Given the description of an element on the screen output the (x, y) to click on. 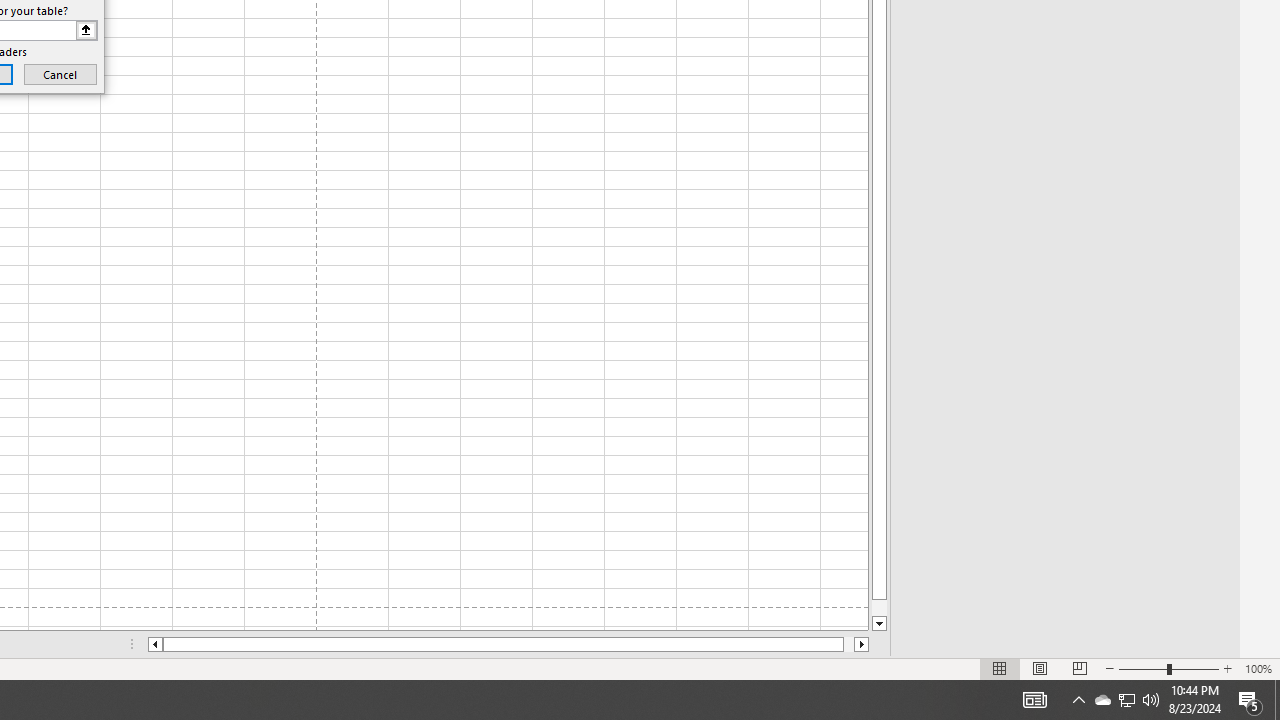
Zoom In (1227, 668)
Page down (879, 607)
Zoom (1168, 668)
Column left (153, 644)
Page Break Preview (1079, 668)
Line down (879, 624)
Column right (861, 644)
Normal (1000, 668)
Zoom Out (1142, 668)
Page right (848, 644)
Class: NetUIScrollBar (507, 644)
